Given the description of an element on the screen output the (x, y) to click on. 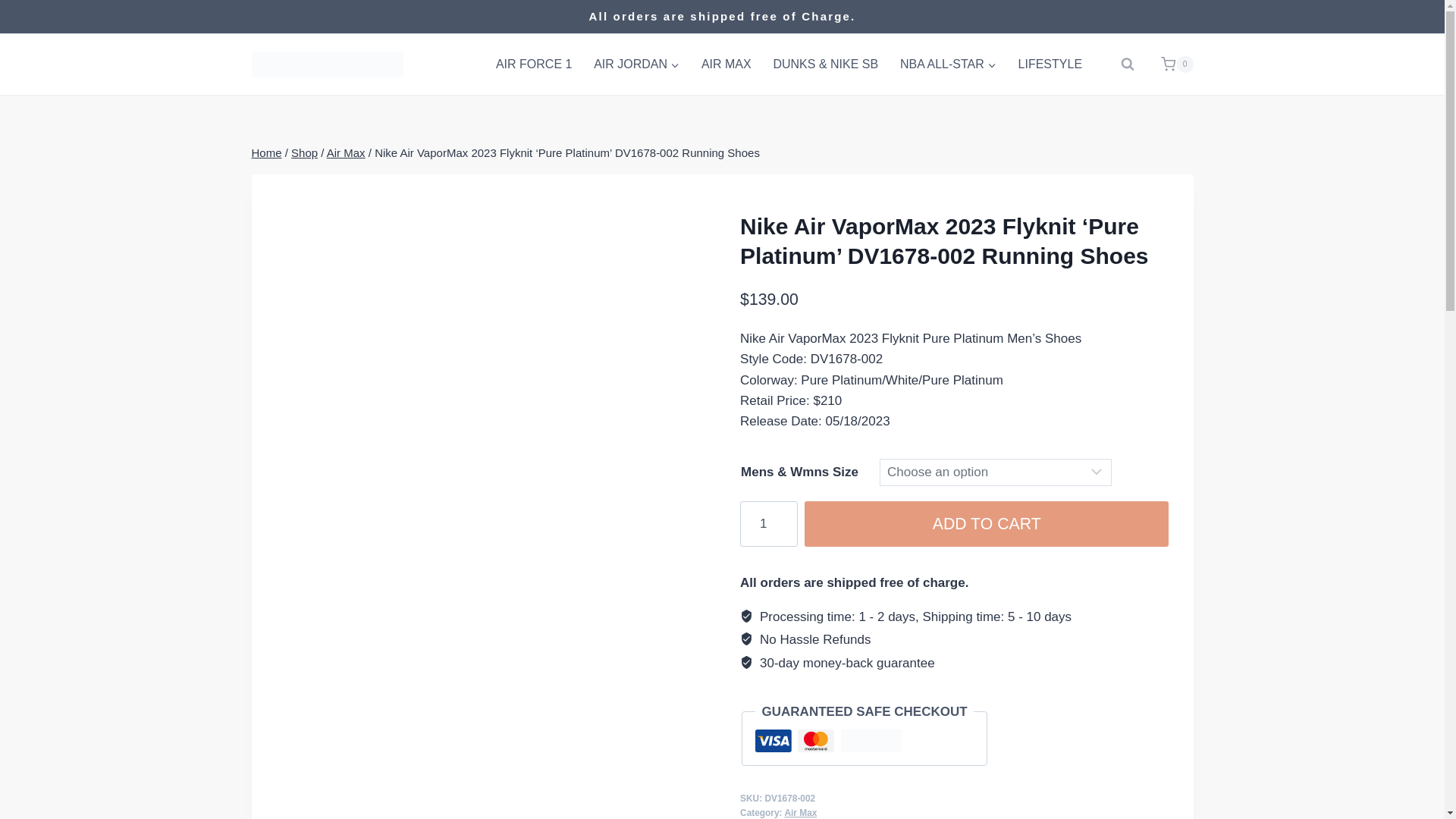
0 (1170, 64)
Home (266, 152)
AIR FORCE 1 (533, 64)
Air Max (800, 812)
Air Max (345, 152)
Shop (304, 152)
AIR JORDAN (636, 64)
ADD TO CART (987, 524)
LIFESTYLE (1050, 64)
NBA ALL-STAR (948, 64)
